Given the description of an element on the screen output the (x, y) to click on. 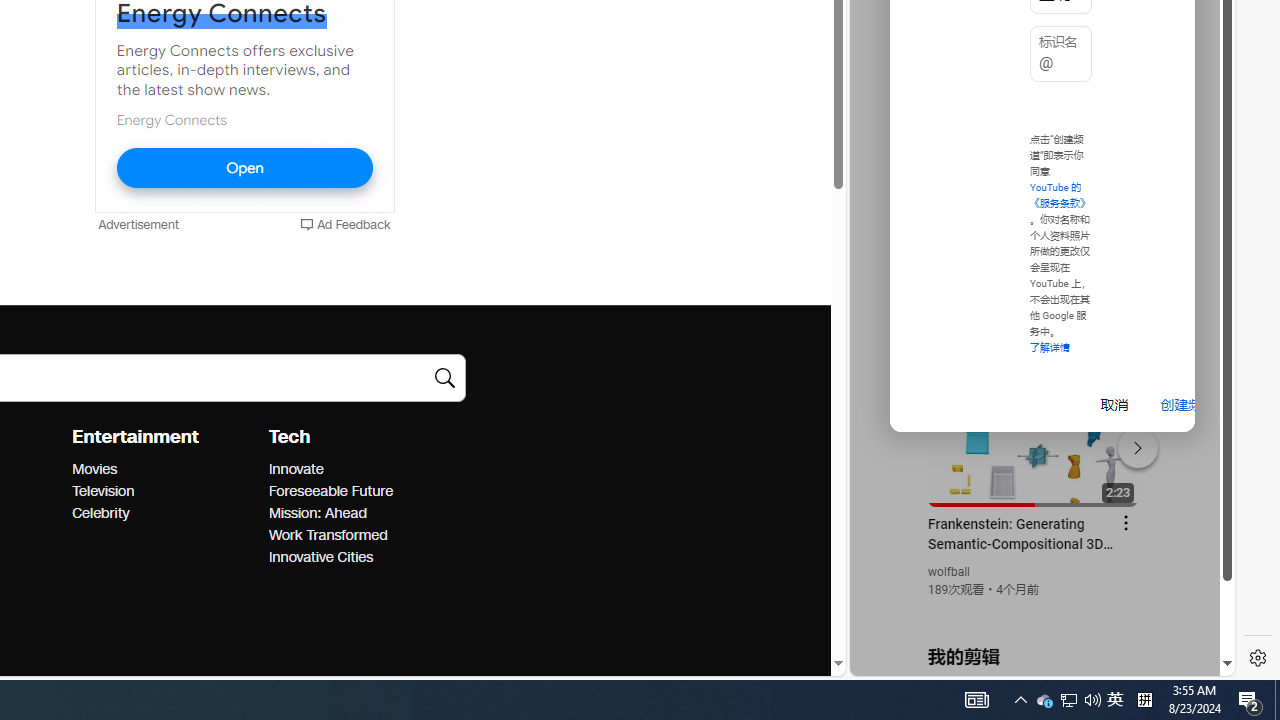
Mission: Ahead (360, 513)
Class: dict_pnIcon rms_img (1028, 660)
